Given the description of an element on the screen output the (x, y) to click on. 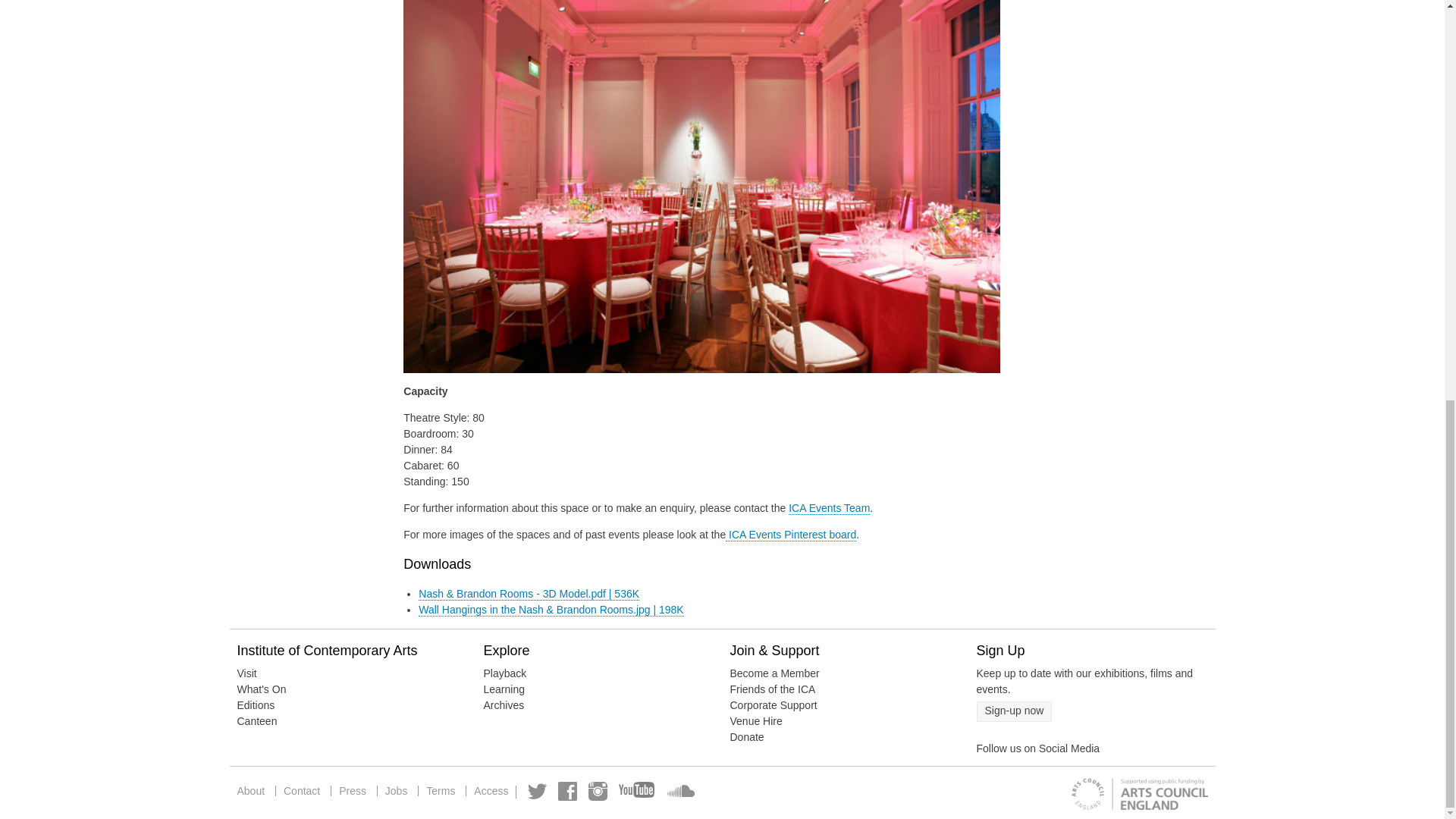
Playback (505, 673)
ICA Events Pinterest board (790, 534)
What's On (260, 689)
ICA Events Team (829, 508)
Canteen (255, 720)
Editions (255, 705)
Visit (245, 673)
Learning (504, 689)
Learning (504, 689)
